Given the description of an element on the screen output the (x, y) to click on. 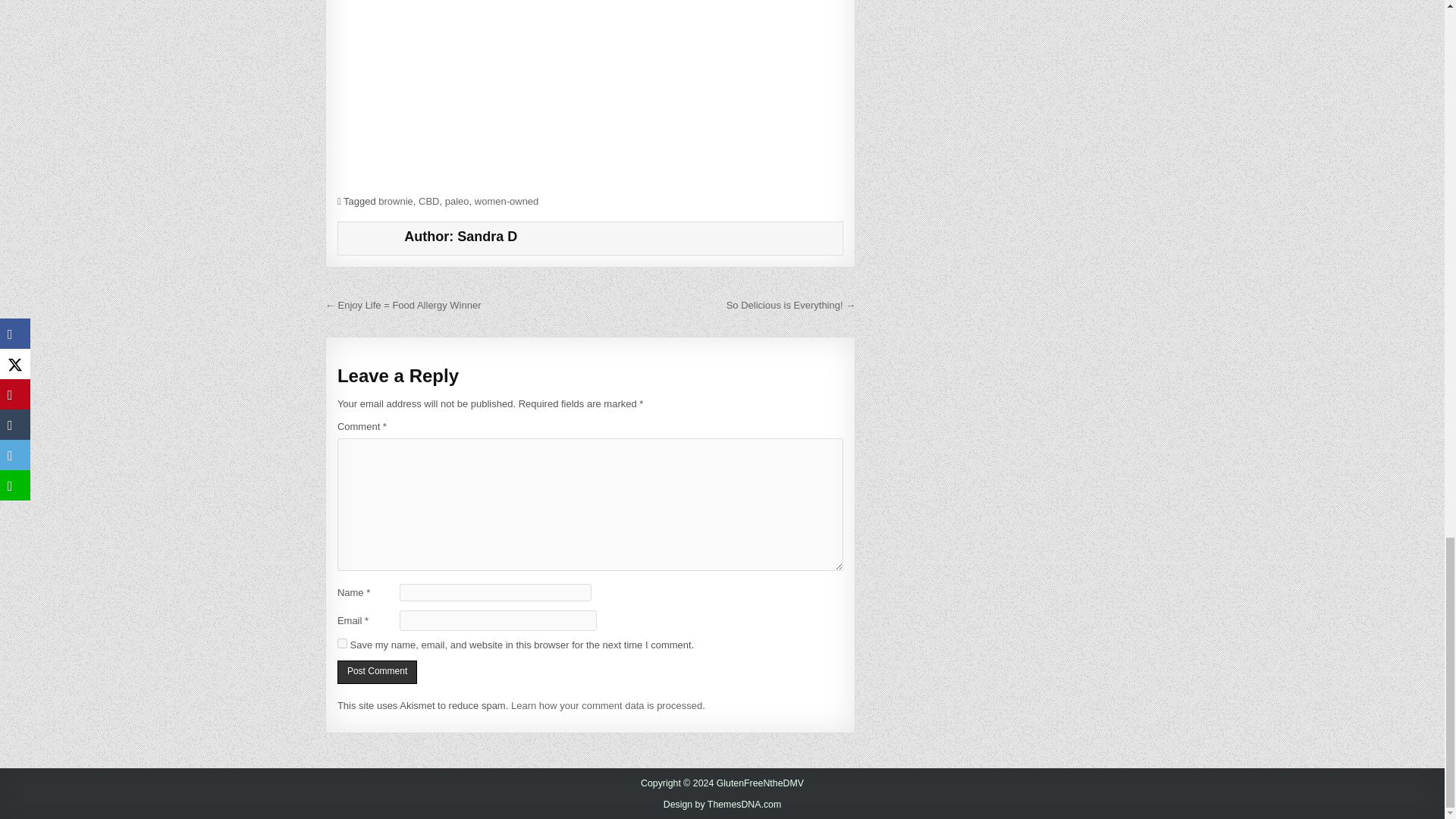
Base Culture - Our Story (590, 93)
Post Comment (376, 671)
CBD (429, 201)
paleo (456, 201)
brownie (395, 201)
yes (342, 643)
